Given the description of an element on the screen output the (x, y) to click on. 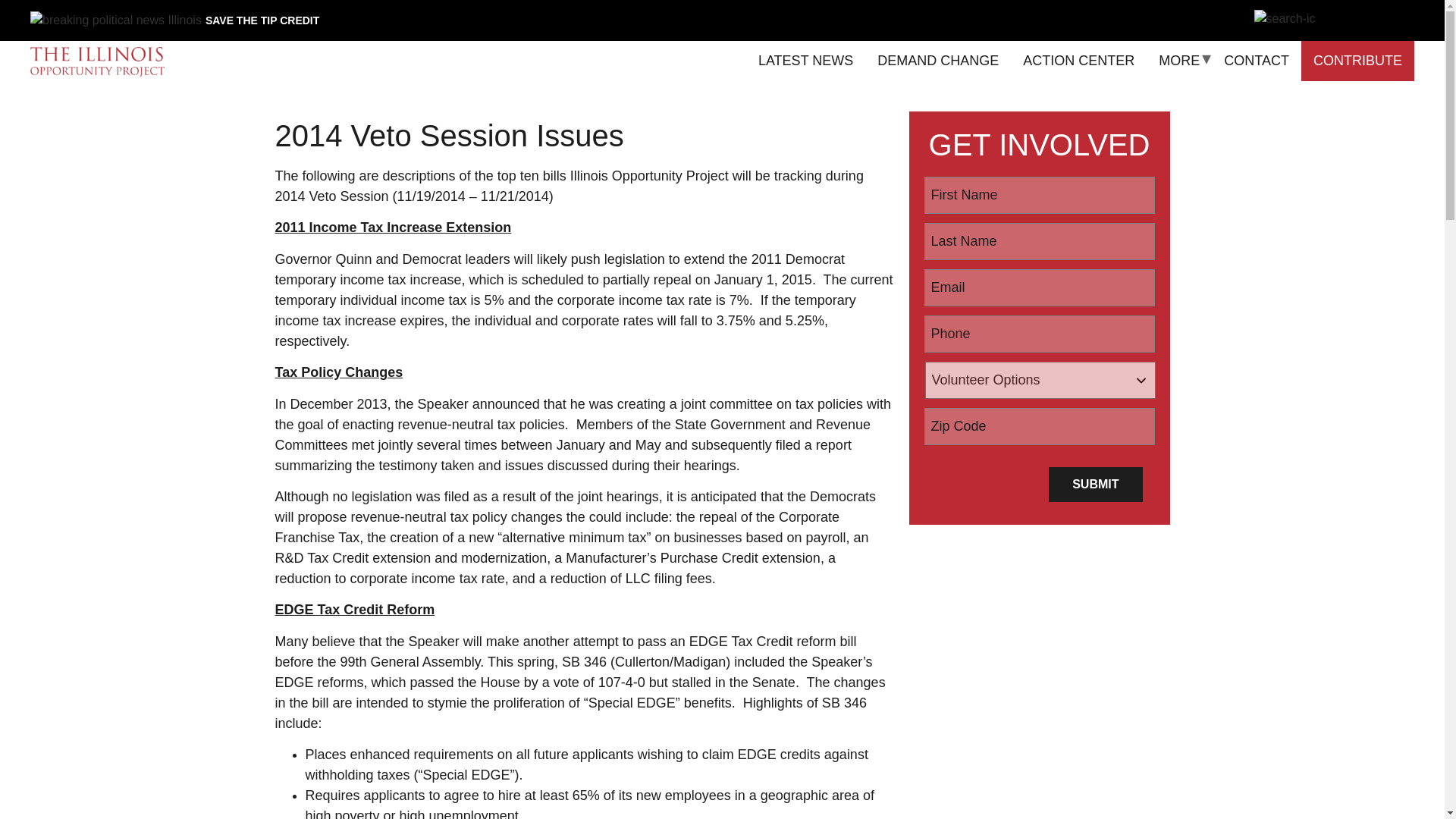
Submit (1094, 484)
SAVE THE TIP CREDIT (261, 20)
CONTACT (1256, 60)
Submit (1094, 484)
CONTRIBUTE (1357, 60)
search-ic (1284, 18)
LATEST NEWS (804, 60)
MORE (1179, 60)
ACTION CENTER (1078, 60)
breaking political news Illinois (116, 20)
